Given the description of an element on the screen output the (x, y) to click on. 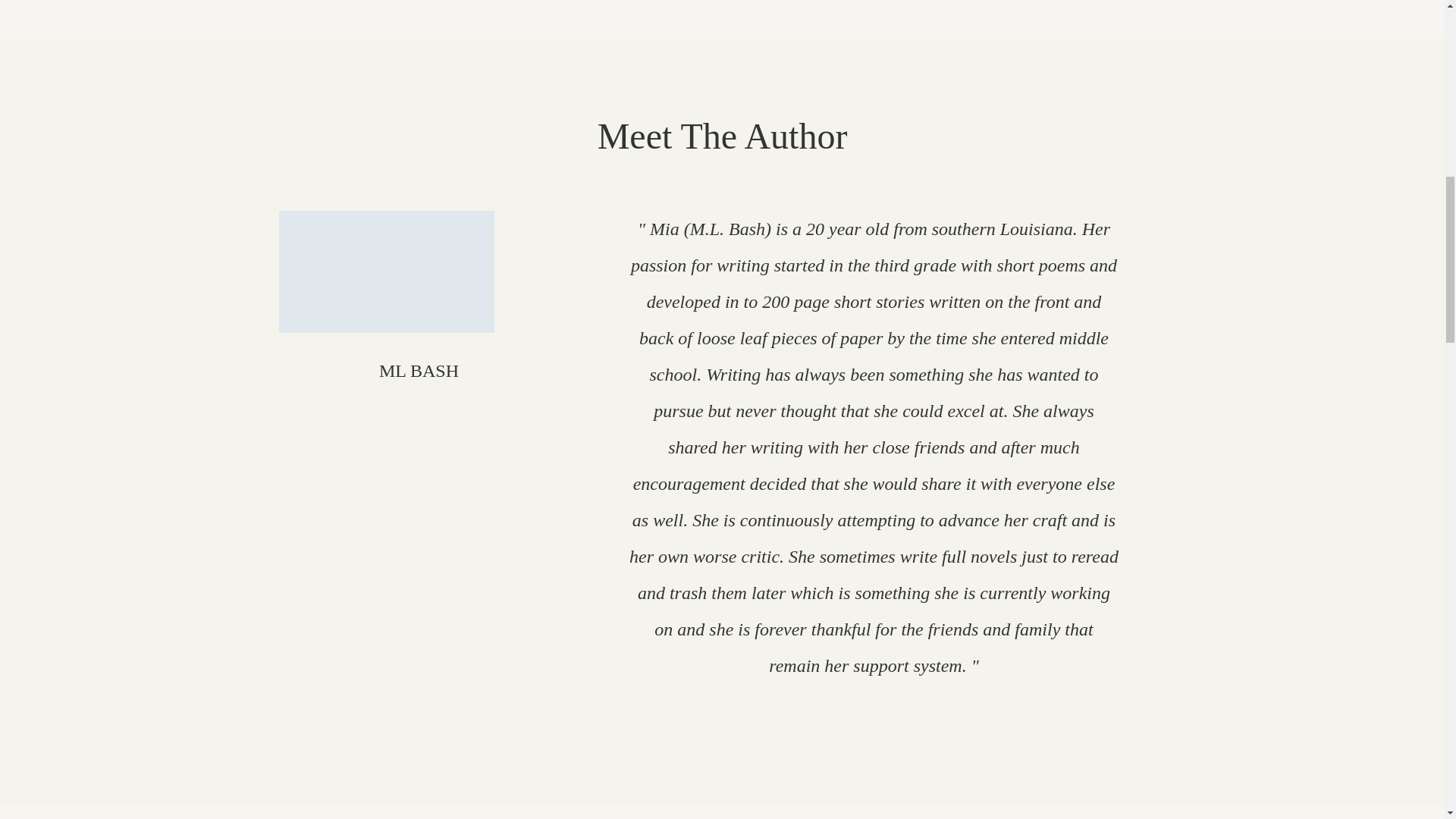
ML BASH (418, 370)
I Pledge To Ride Till The End For Mine (387, 271)
ML BASH (418, 370)
